Given the description of an element on the screen output the (x, y) to click on. 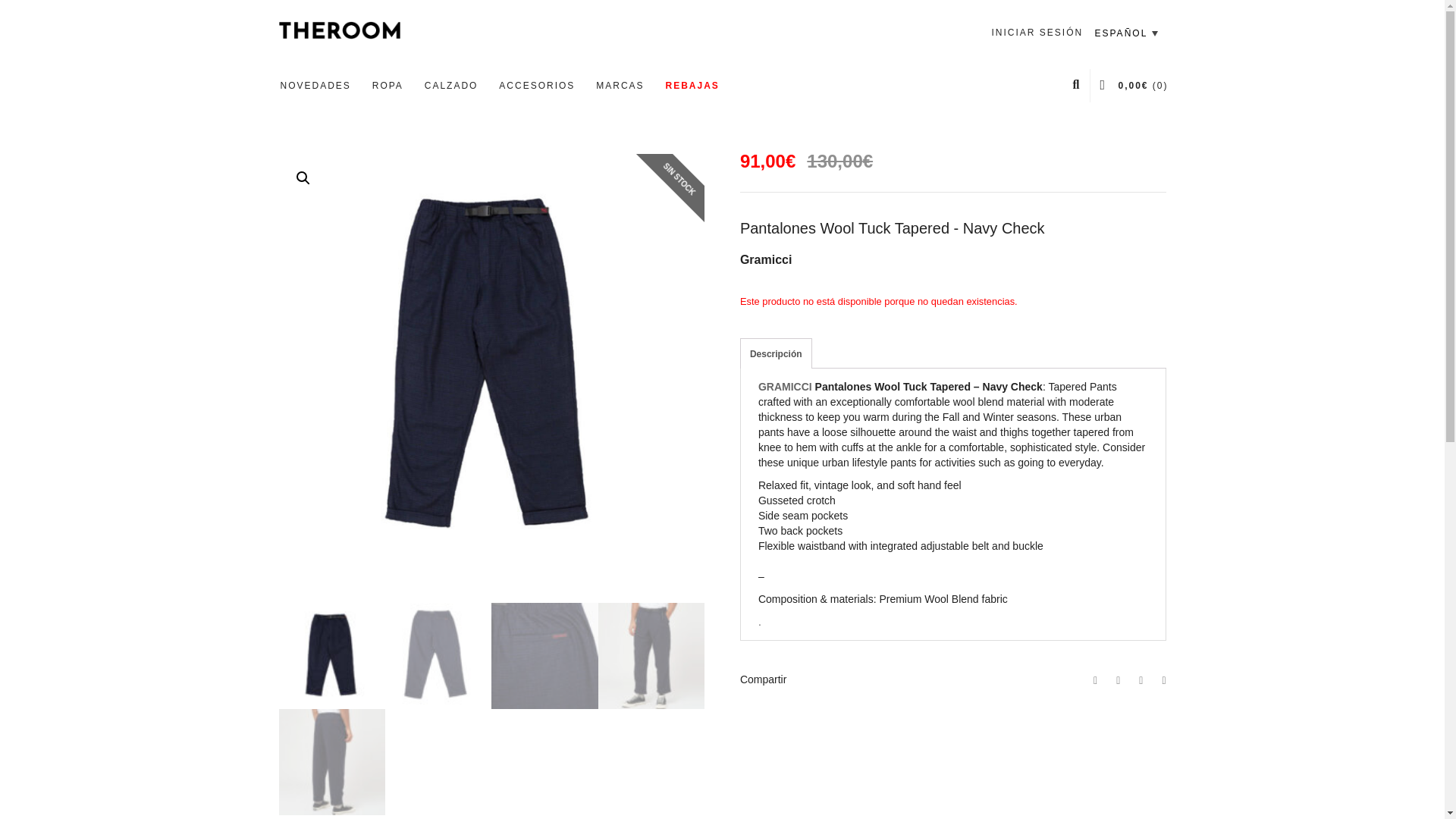
View your shopping bag (1133, 85)
CALZADO (450, 85)
NOVEDADES (314, 85)
ACCESORIOS (536, 85)
REBAJAS (692, 85)
ROPA (387, 85)
MARCAS (619, 85)
